Given the description of an element on the screen output the (x, y) to click on. 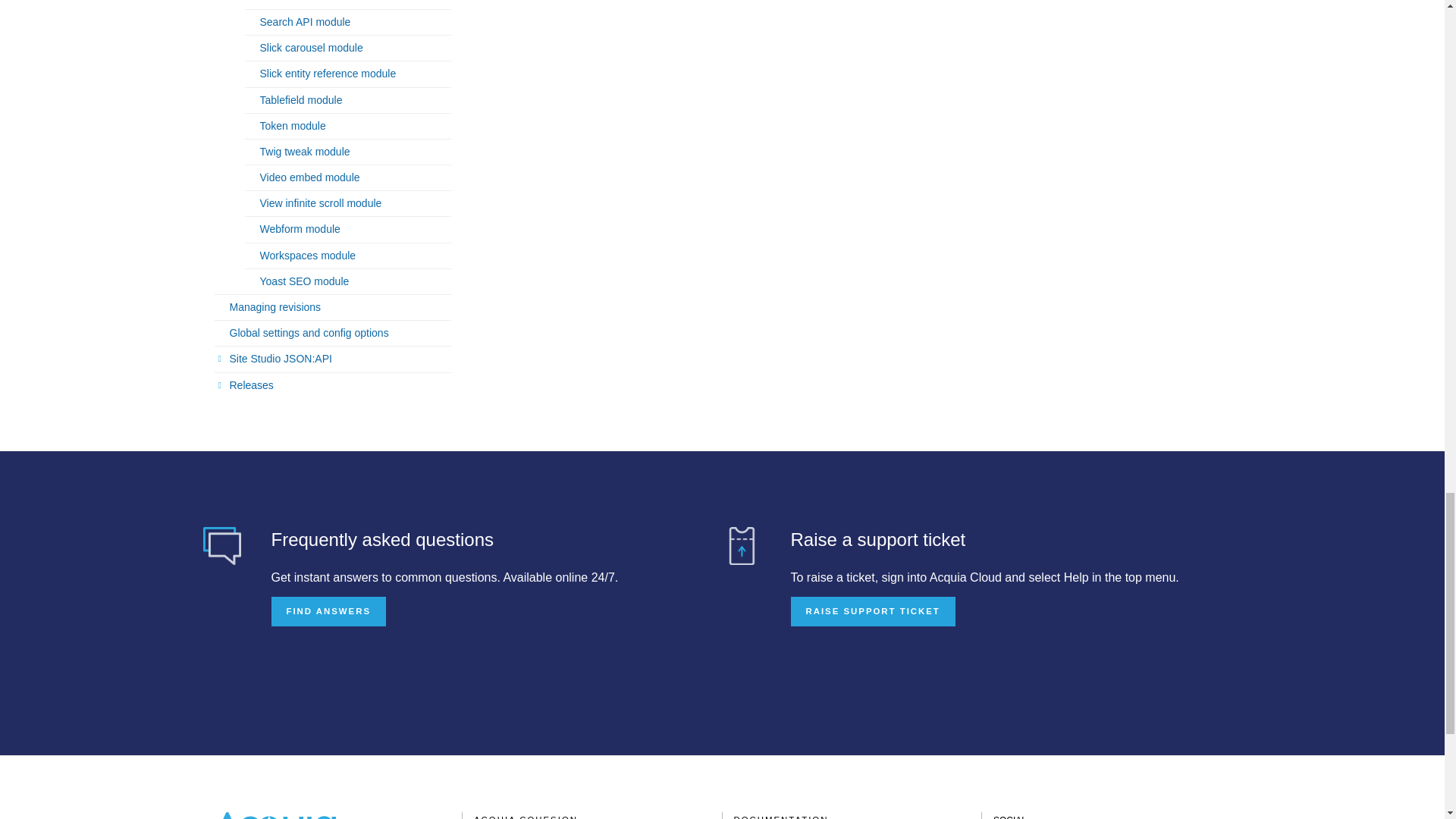
DX8 knowledge base (222, 546)
Documentation (780, 815)
Raise a support ticket (872, 609)
Acquia Site Studio (526, 815)
Raise a ticket icon (741, 546)
